Given the description of an element on the screen output the (x, y) to click on. 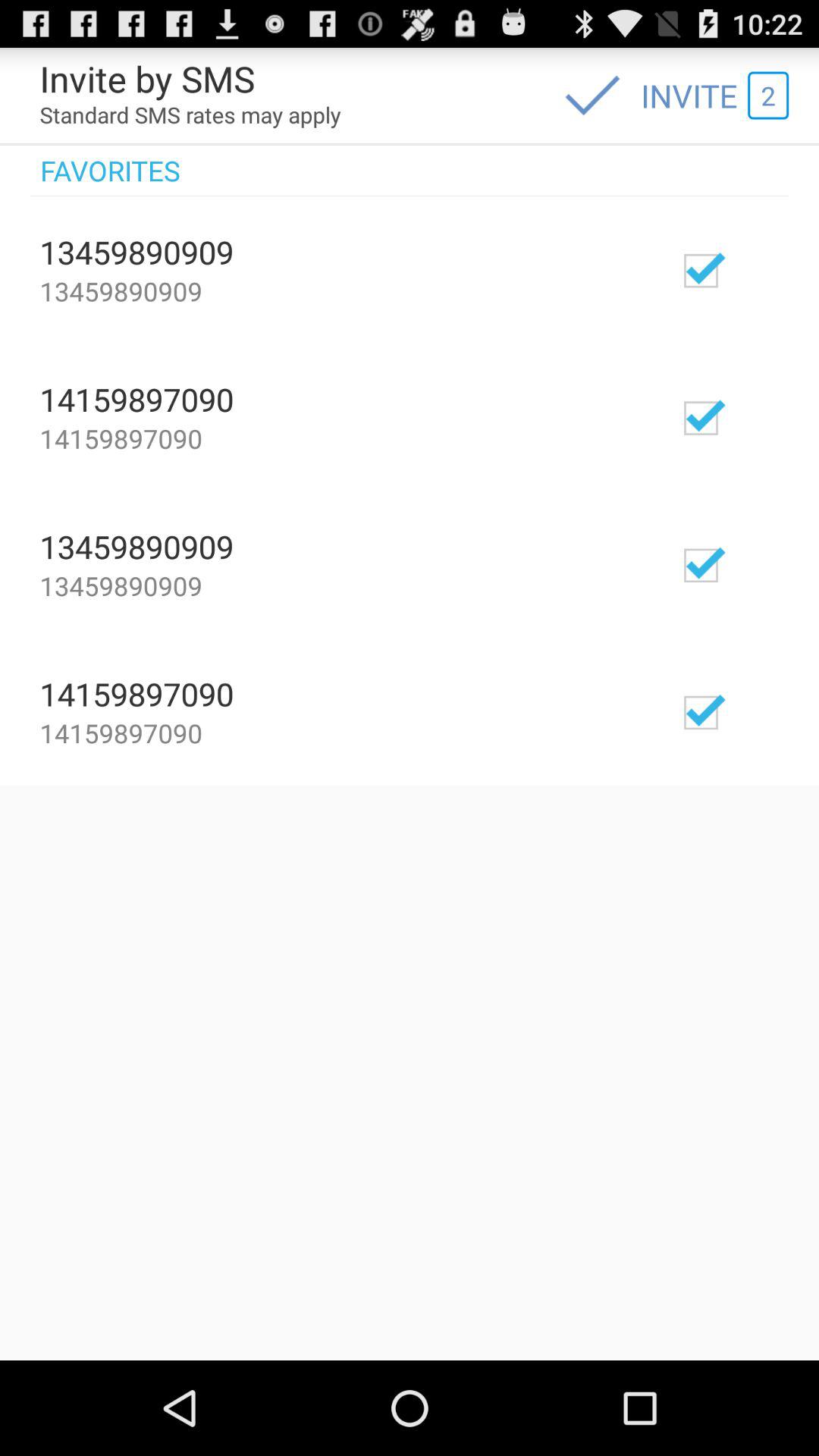
invite this number by sms (745, 416)
